Given the description of an element on the screen output the (x, y) to click on. 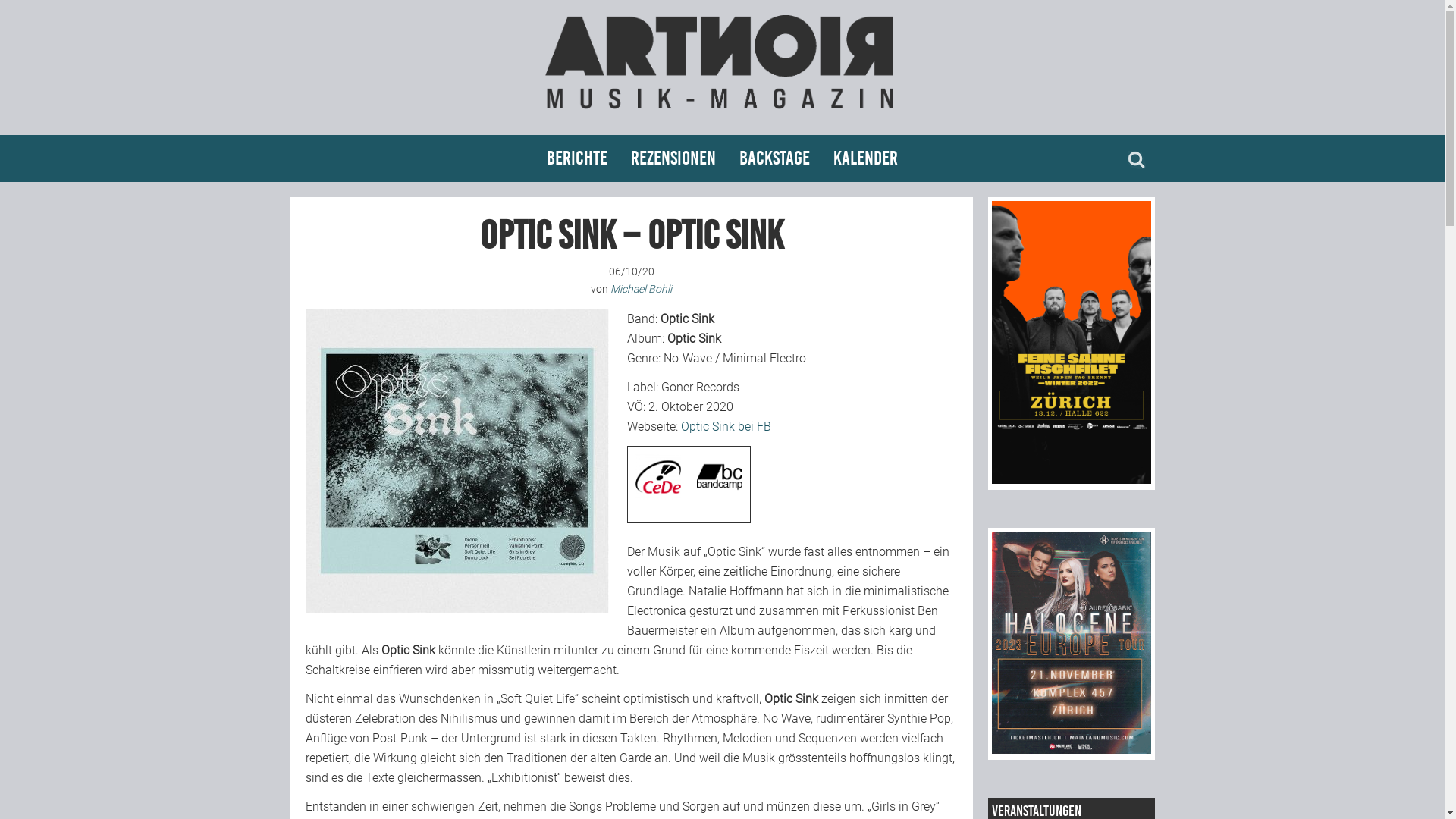
Backstage Element type: text (774, 158)
Rezensionen Element type: text (673, 158)
ARTNOIR Element type: hover (721, 115)
Michael Bohli Element type: text (640, 288)
Berichte Element type: text (577, 158)
Suchen nach: Element type: hover (1135, 164)
Suchen Element type: text (0, 0)
Kalender Element type: text (865, 158)
Optic Sink bei FB Element type: text (725, 426)
